Given the description of an element on the screen output the (x, y) to click on. 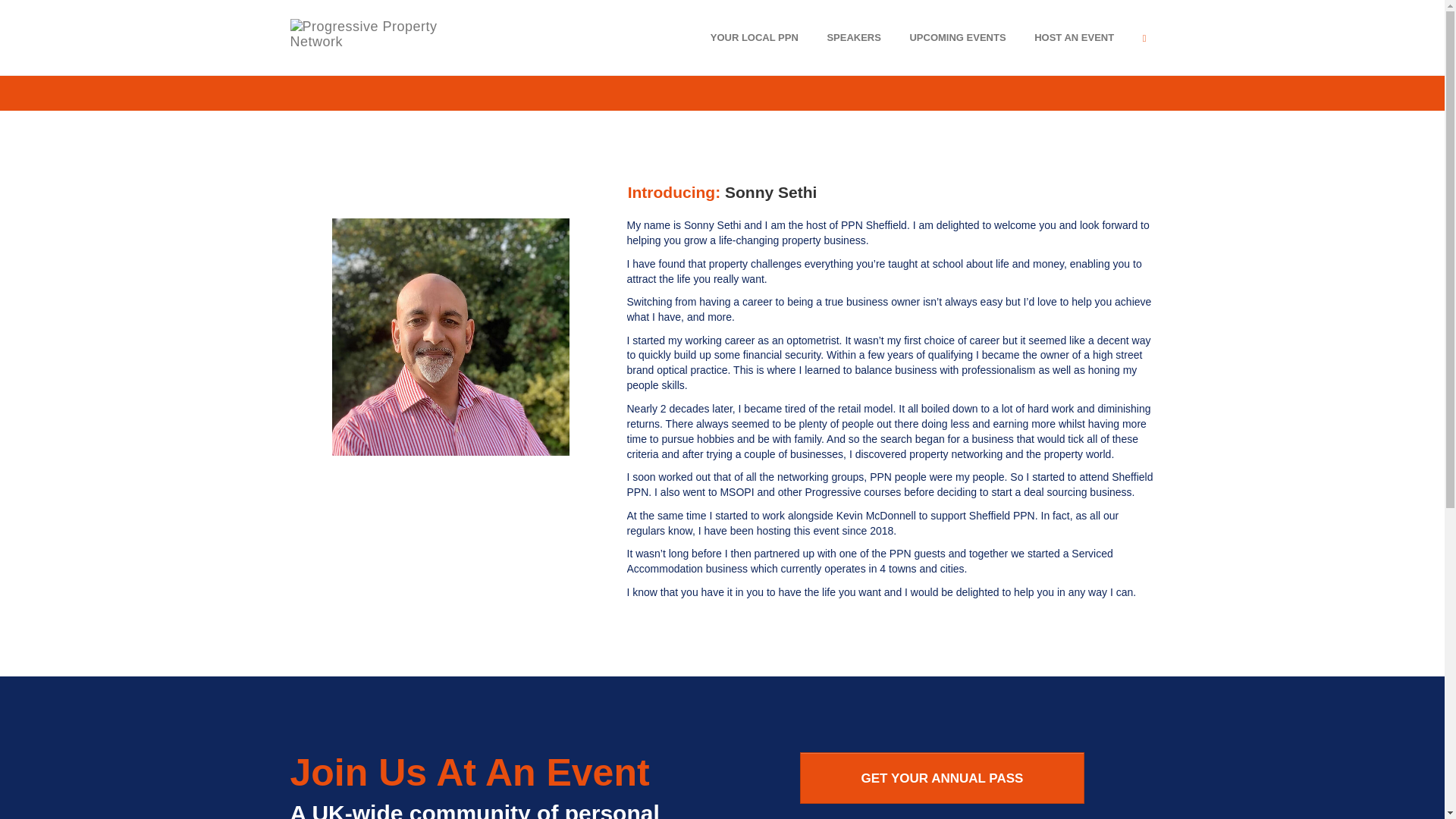
GET YOUR ANNUAL PASS (941, 777)
SPEAKERS (853, 37)
HOST AN EVENT (1074, 37)
YOUR LOCAL PPN (753, 37)
UPCOMING EVENTS (957, 37)
Progressive Property Network (368, 37)
OPEN SEARCH FORM (1144, 37)
